Given the description of an element on the screen output the (x, y) to click on. 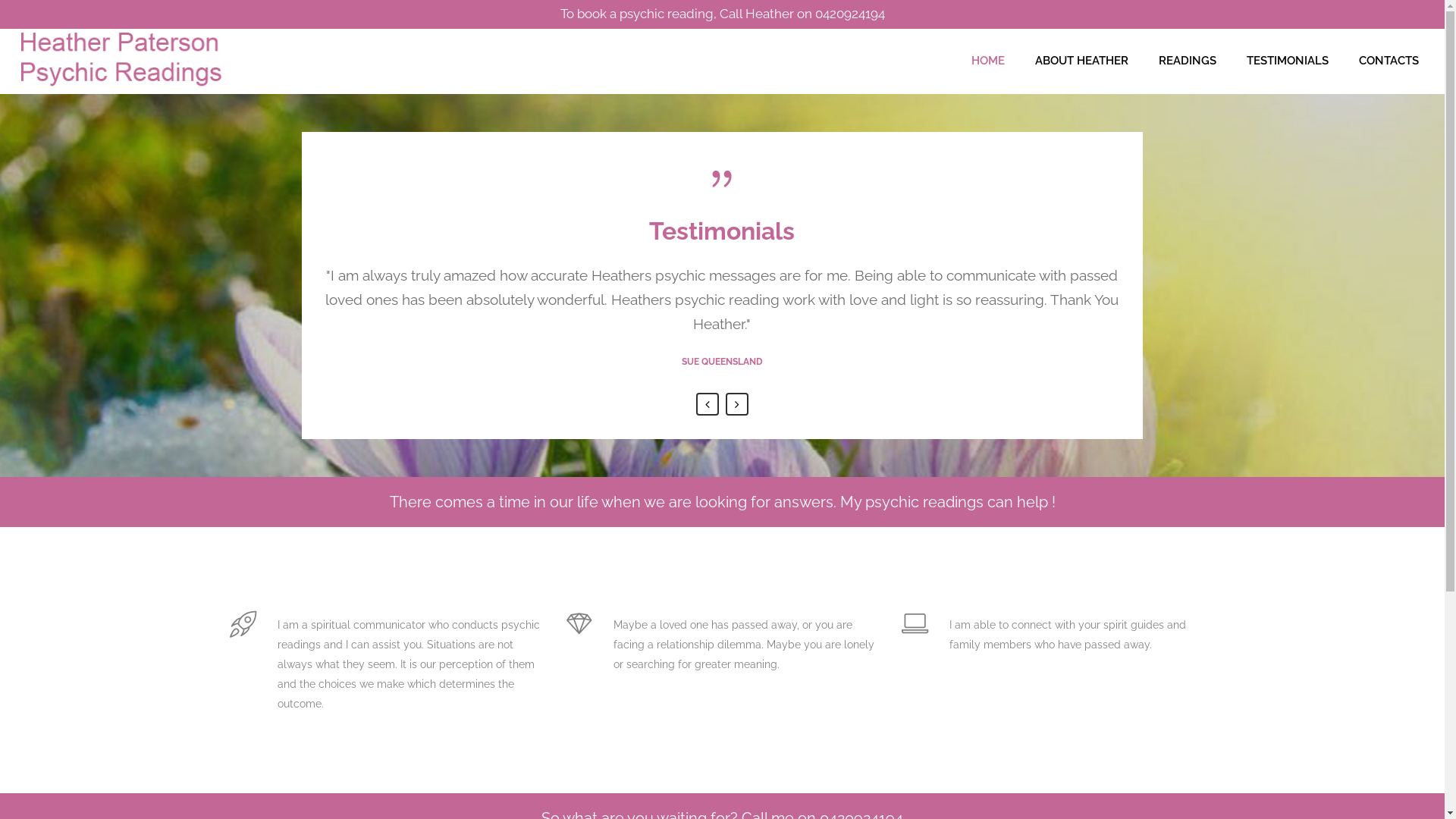
CONTACTS Element type: text (1388, 60)
TESTIMONIALS Element type: text (1287, 60)
ABOUT HEATHER Element type: text (1081, 60)
Previous Element type: text (707, 403)
Next Element type: text (736, 403)
READINGS Element type: text (1187, 60)
0420924194 Element type: text (849, 13)
HOME Element type: text (987, 60)
